Given the description of an element on the screen output the (x, y) to click on. 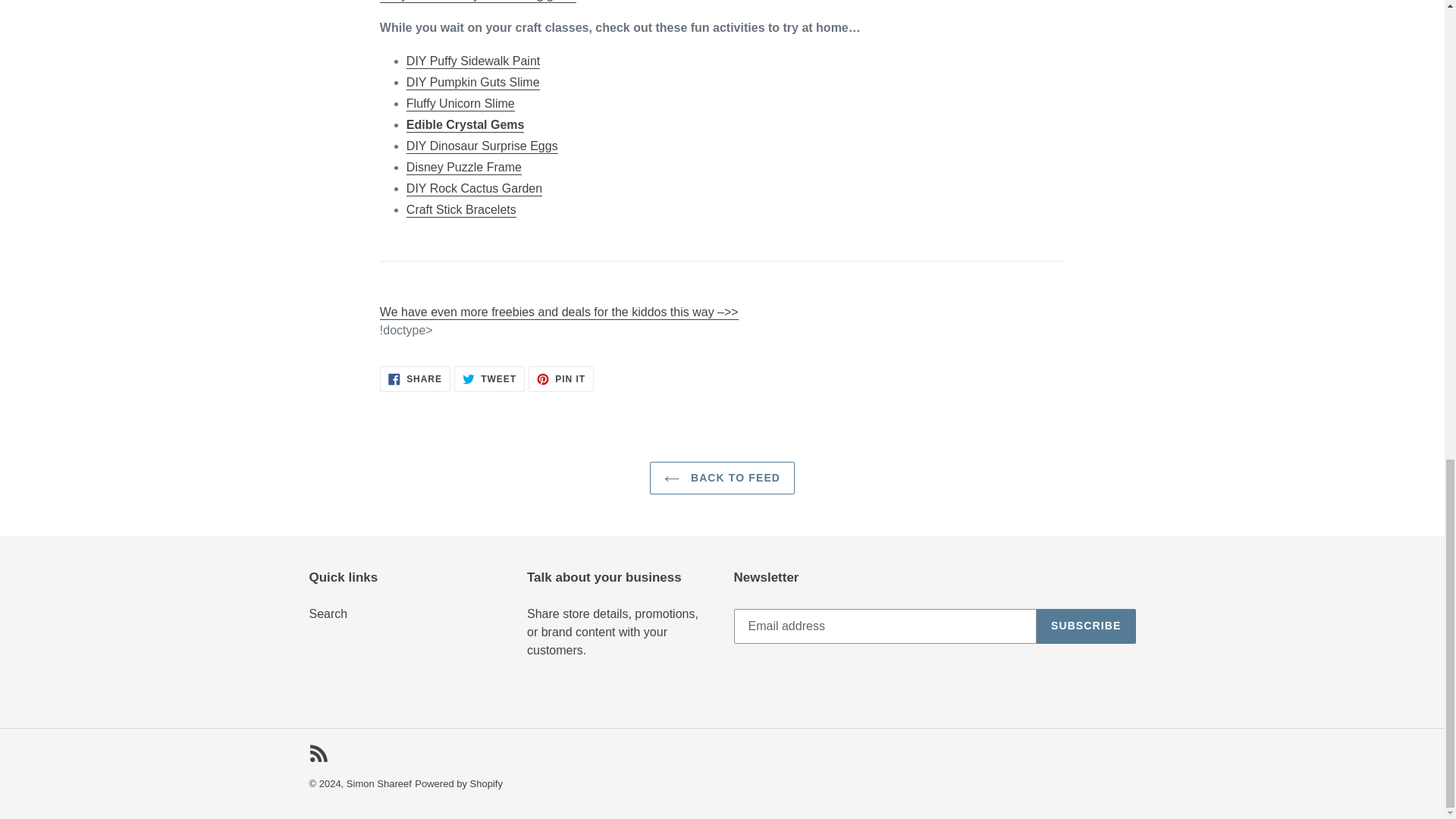
Edible Crystal Gems (465, 124)
DIY Pumpkin Guts Slime (473, 83)
Fluffy Unicorn Slime (460, 104)
DIY Rock Cactus Garden (473, 188)
DIY Dinosaur Surprise Eggs (481, 146)
Disney Puzzle Frame (463, 167)
DIY Puffy Sidewalk Paint (473, 61)
